Given the description of an element on the screen output the (x, y) to click on. 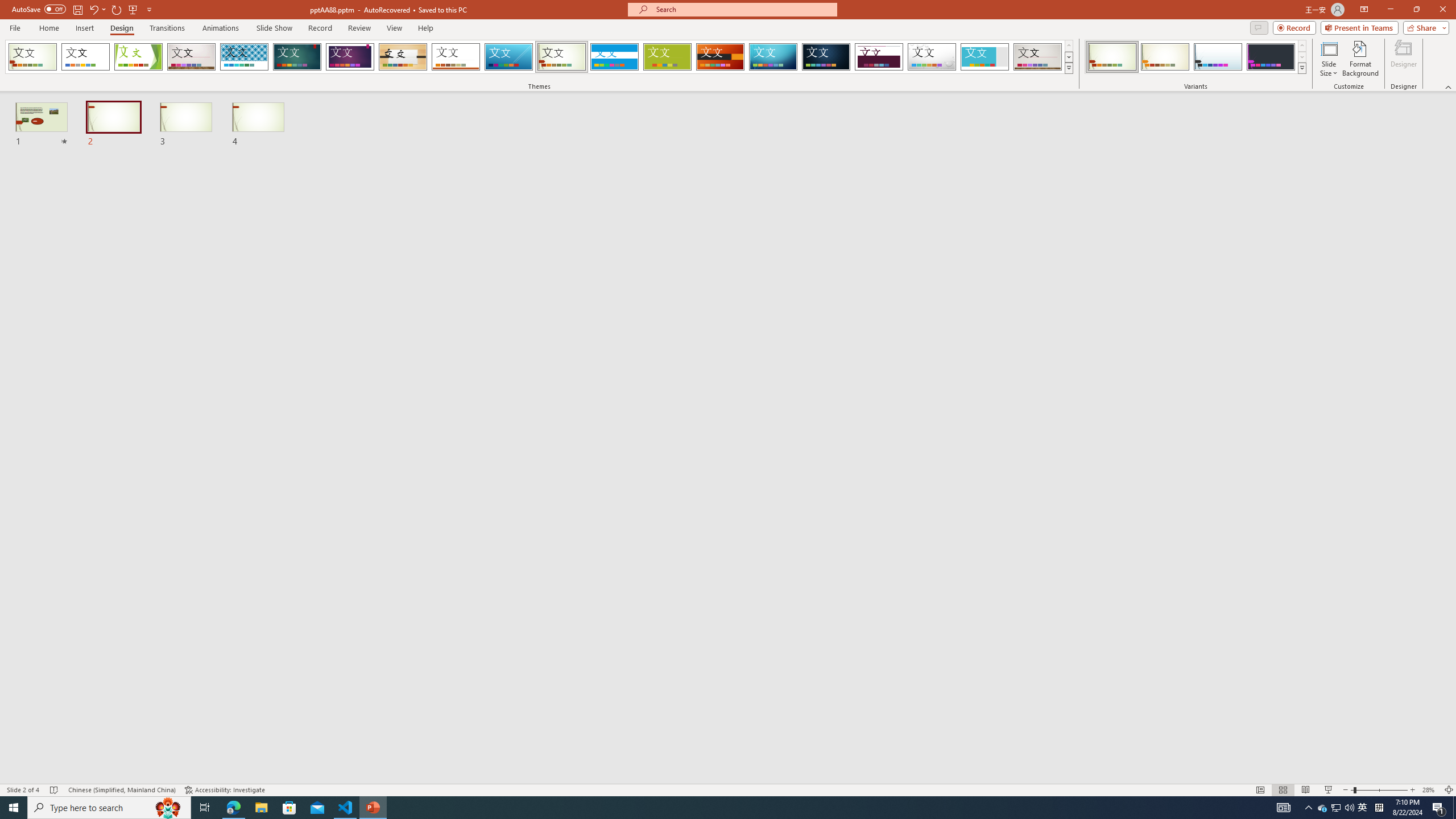
Banded Loading Preview... (614, 56)
Integral Loading Preview... (244, 56)
Basis Loading Preview... (667, 56)
